Given the description of an element on the screen output the (x, y) to click on. 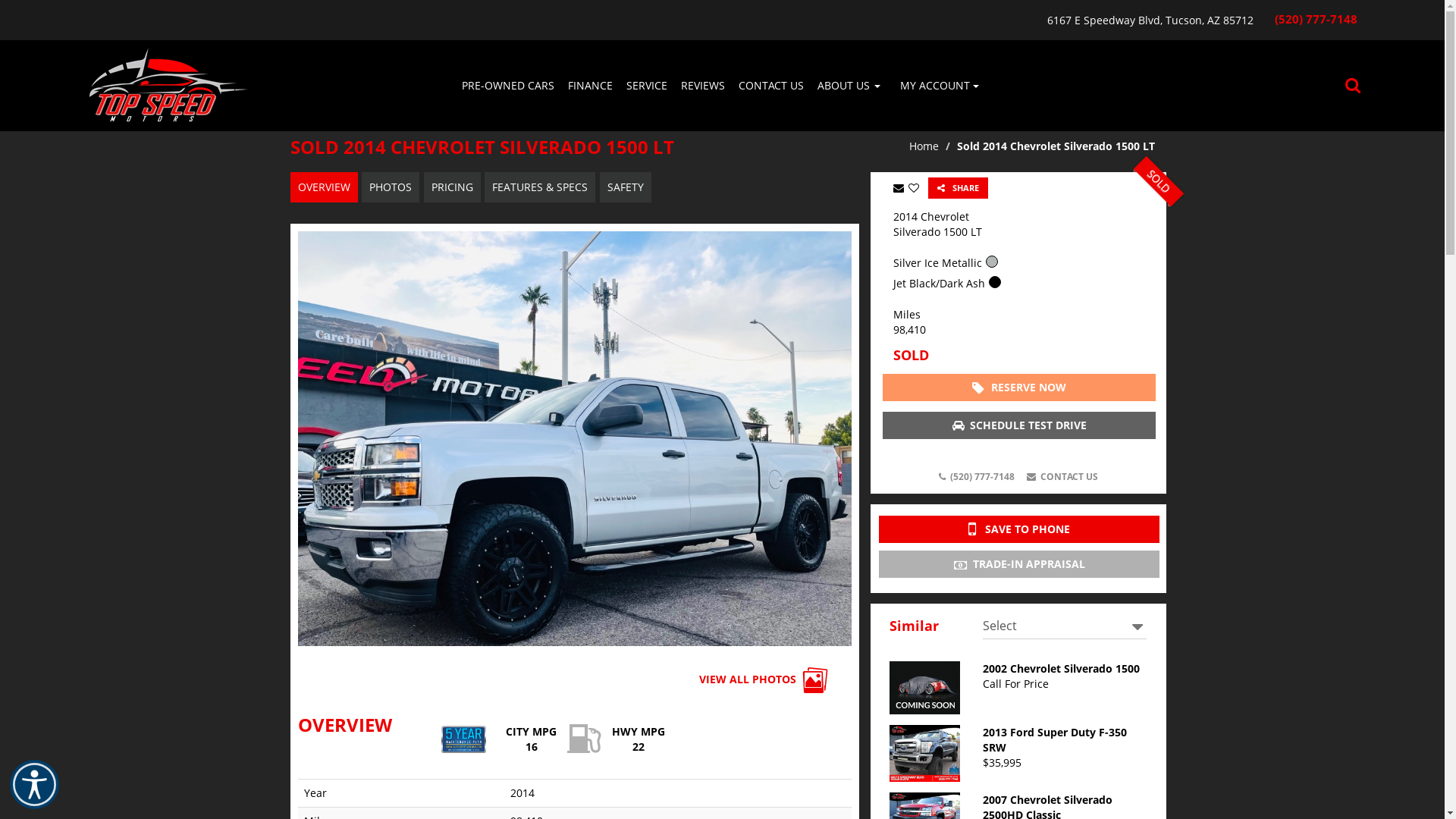
MY ACCOUNT Element type: text (938, 85)
SERVICE Element type: text (645, 85)
SAVE TO PHONE Element type: text (1018, 528)
ABOUT US Element type: text (847, 85)
PRE-OWNED CARS Element type: text (508, 85)
PRICING Element type: text (451, 187)
VIEW ALL PHOTOS Element type: text (763, 680)
FINANCE Element type: text (590, 85)
FEATURES & SPECS Element type: text (539, 187)
REVIEWS Element type: text (702, 85)
Home Element type: text (923, 145)
TRADE-IN APPRAISAL Element type: text (1018, 563)
SCHEDULE TEST DRIVE Element type: text (1018, 425)
CONTACT US Element type: text (770, 85)
PHOTOS Element type: text (390, 187)
CONTACT US Element type: text (1061, 476)
(520) 777-7148 Element type: text (975, 476)
6167 E Speedway Blvd, Tucson, AZ 85712 Element type: text (670, 20)
(520) 777-7148 Element type: text (1315, 19)
SAFETY Element type: text (624, 187)
OVERVIEW Element type: text (323, 187)
RESERVE NOW Element type: text (1018, 387)
